Given the description of an element on the screen output the (x, y) to click on. 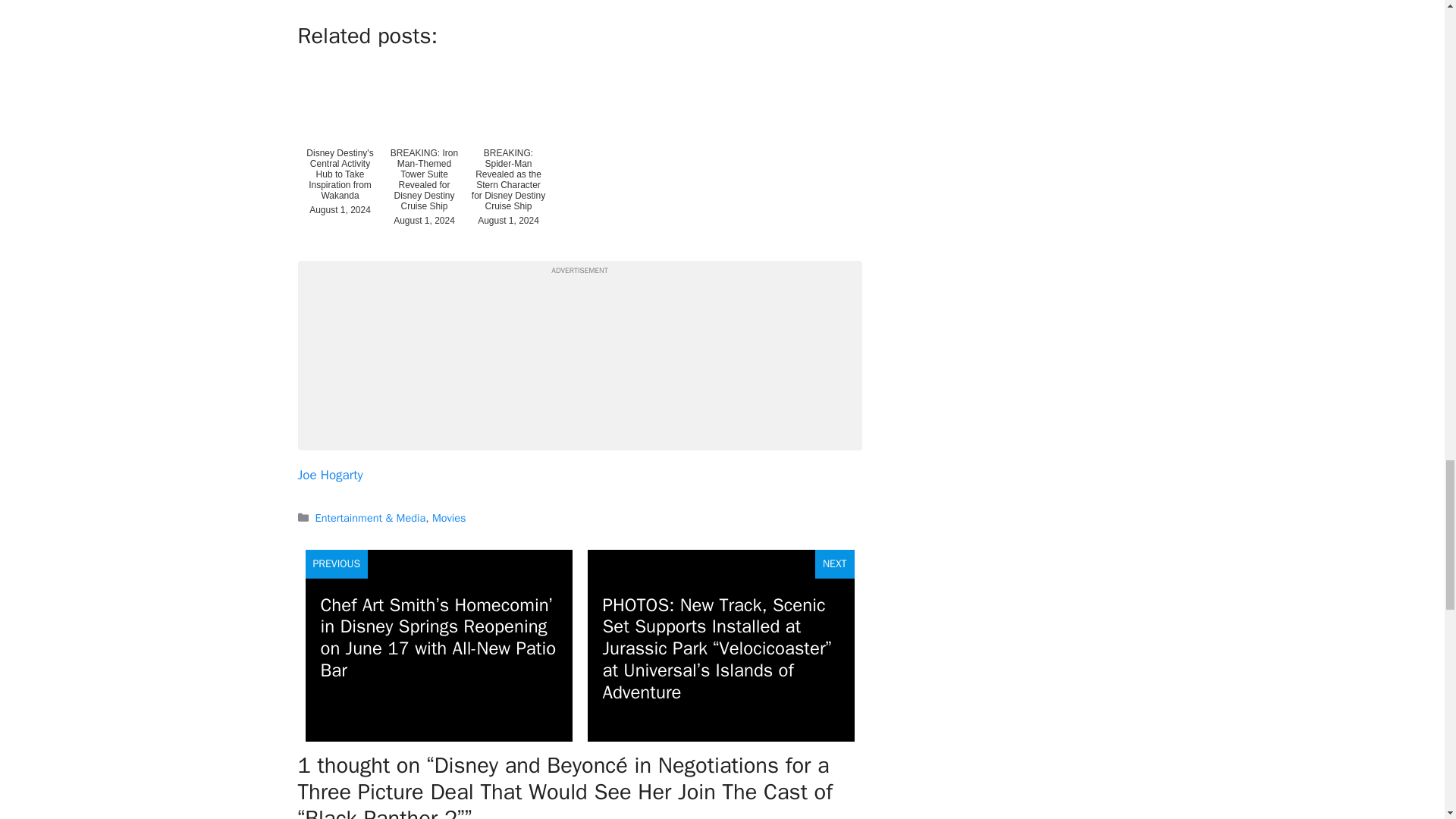
Joe Hogarty (329, 474)
